Given the description of an element on the screen output the (x, y) to click on. 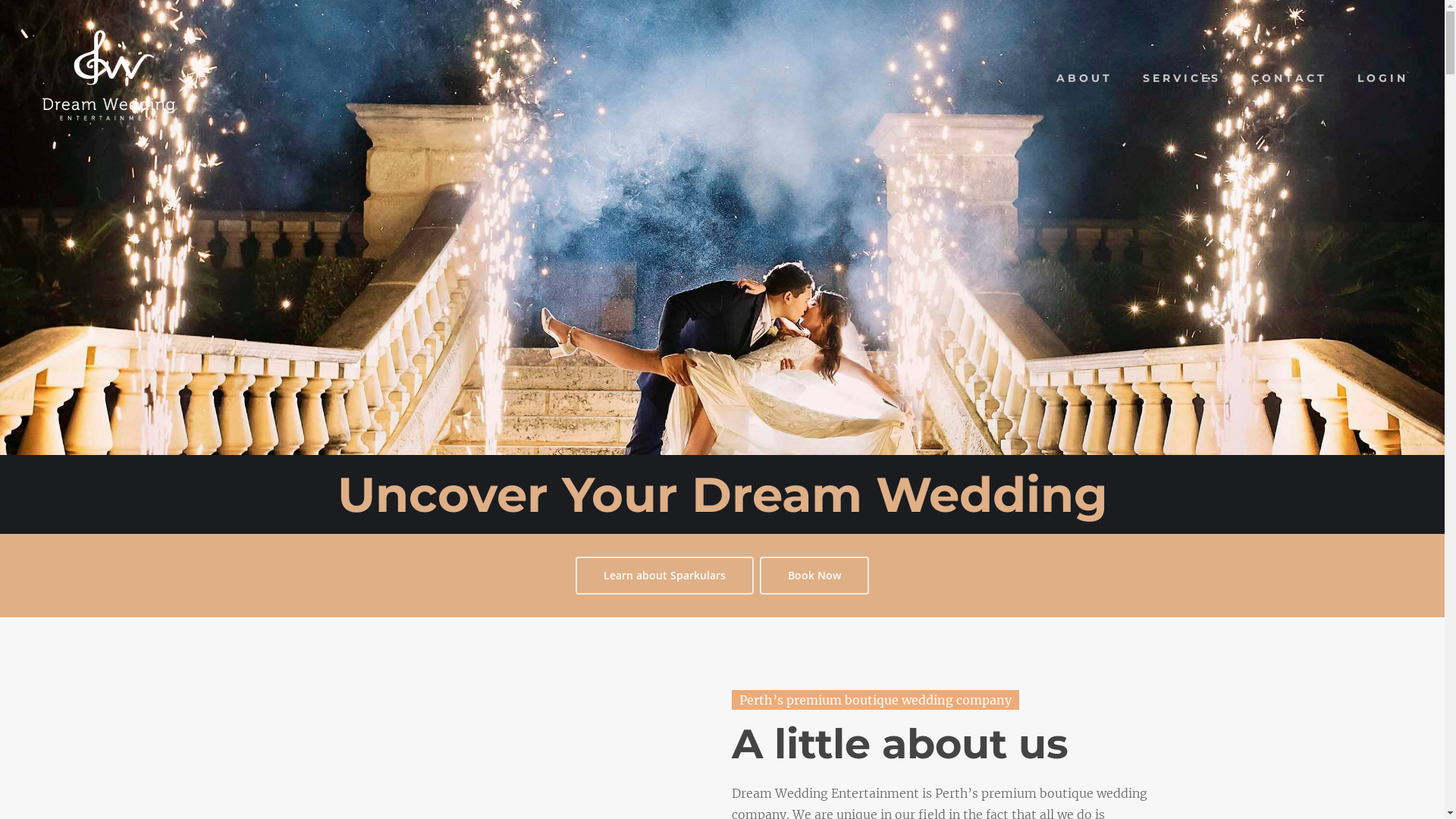
LOGIN Element type: text (1382, 77)
SERVICES Element type: text (1181, 77)
ABOUT Element type: text (1084, 77)
Book Now Element type: text (814, 575)
CONTACT Element type: text (1289, 77)
Learn about Sparkulars Element type: text (664, 575)
